Given the description of an element on the screen output the (x, y) to click on. 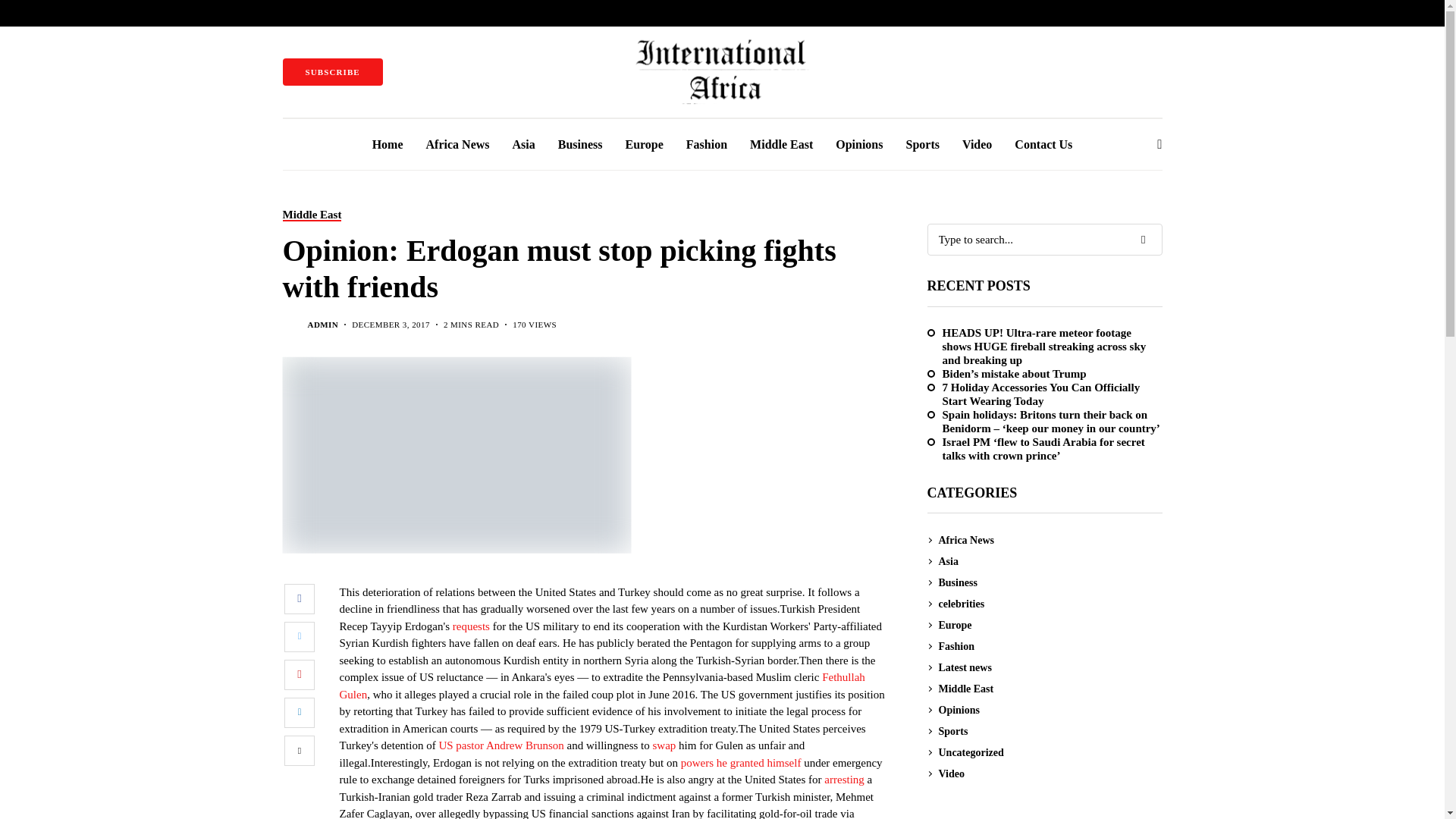
Africa News (457, 143)
Middle East (311, 214)
ADMIN (323, 325)
Posts by admin (323, 325)
Opinions (858, 143)
Contact Us (1042, 143)
SUBSCRIBE (331, 71)
Middle East (780, 143)
